Given the description of an element on the screen output the (x, y) to click on. 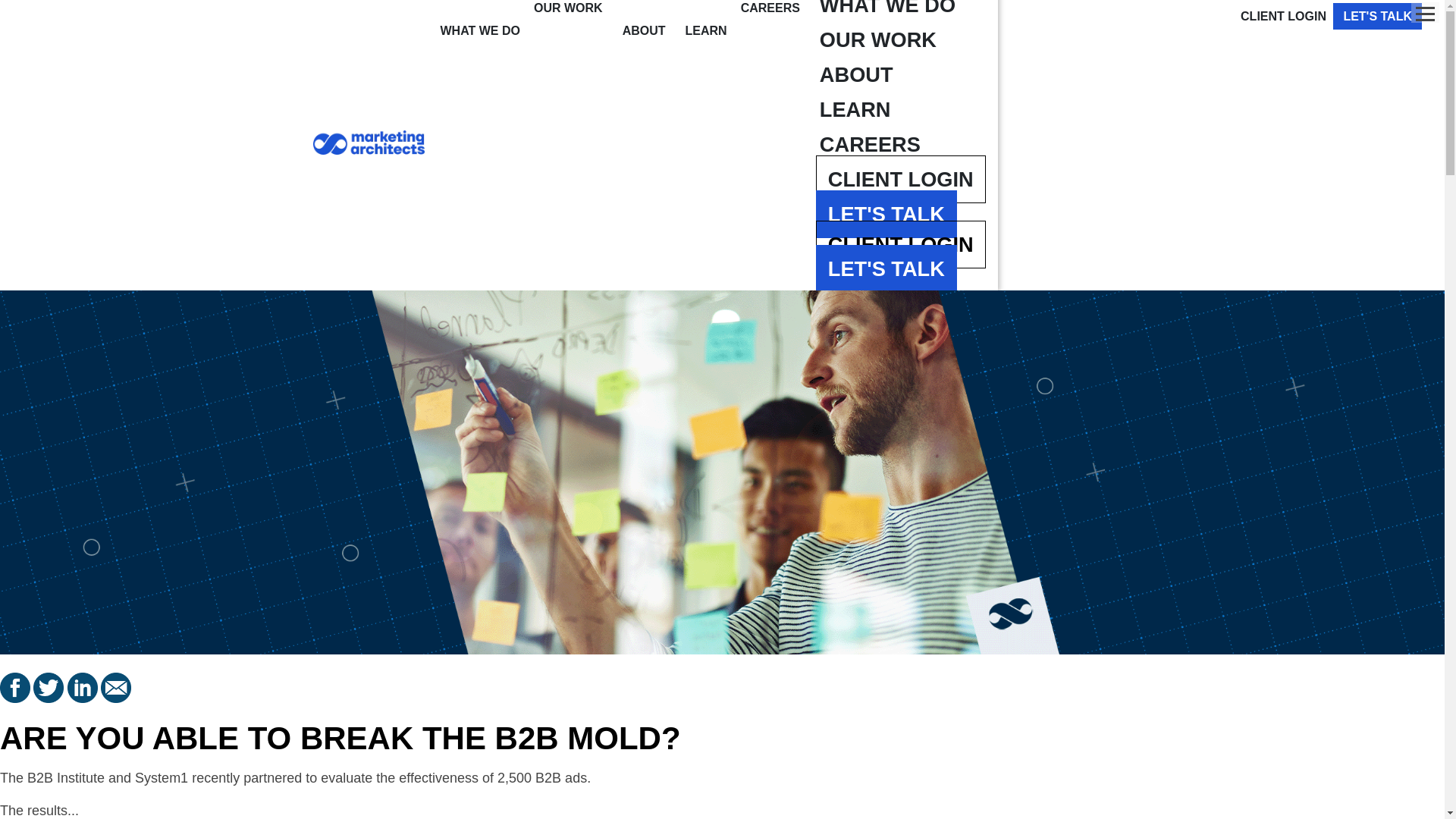
LET'S TALK (1377, 16)
WHAT WE DO (480, 30)
Share via Email (115, 698)
LET'S TALK (885, 214)
Tweet (49, 698)
LEARN (855, 109)
CLIENT LOGIN (1283, 15)
OUR WORK (877, 39)
Share on Facebook (16, 698)
OUR WORK (568, 9)
LEARN (705, 30)
WHAT WE DO (887, 10)
CLIENT LOGIN (900, 179)
LET'S TALK (885, 268)
ABOUT (643, 30)
